Given the description of an element on the screen output the (x, y) to click on. 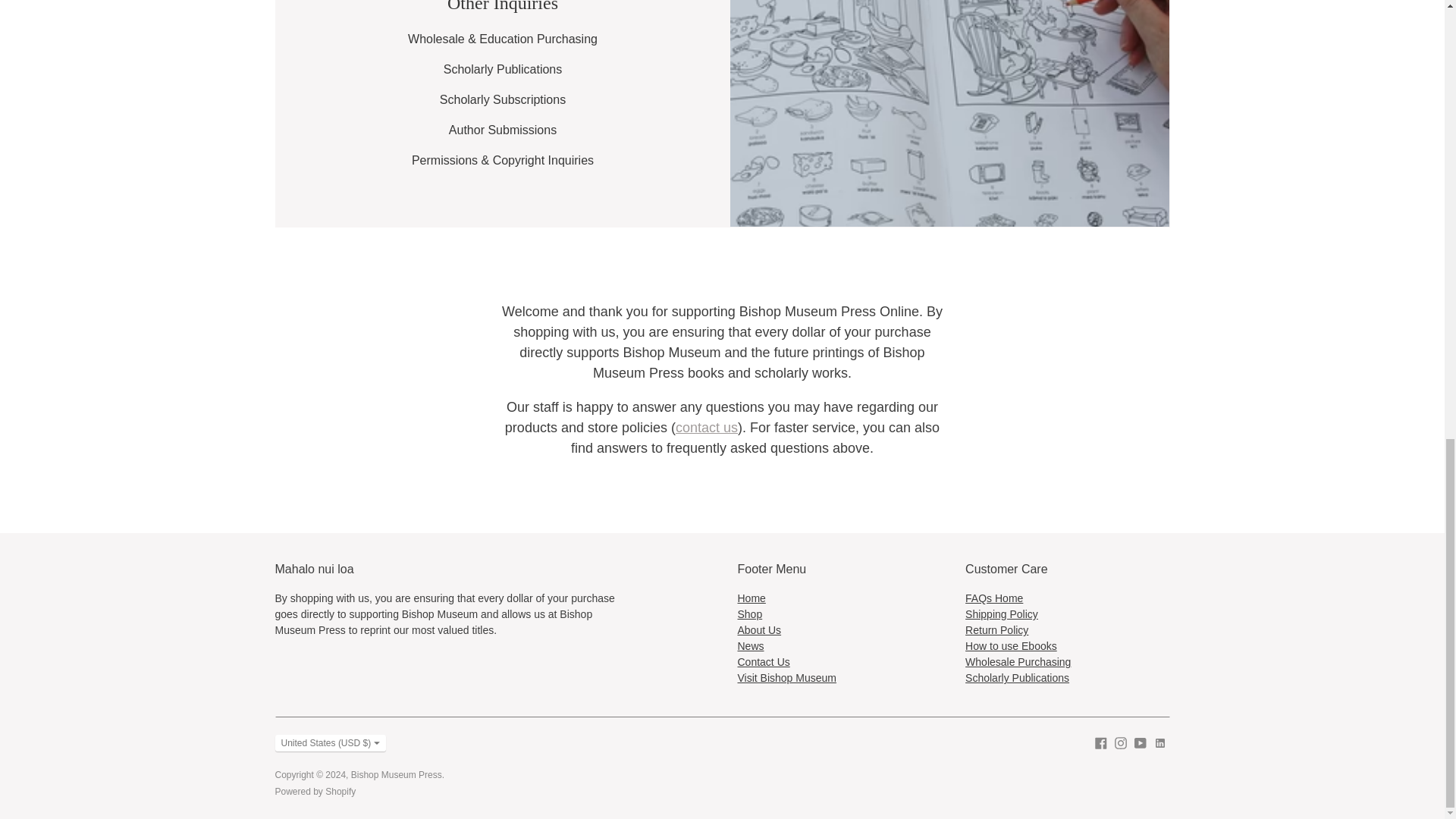
Copyright Permissions of Use (503, 160)
Scholarly Publications (503, 69)
Bishop Museum Press on YouTube (1140, 741)
Bishop Museum Press on Instagram (1120, 741)
Subscriptions (502, 99)
Submission Guidelines (502, 129)
Contact Us (706, 427)
Bishop Museum Press on LinkedIn, (1160, 741)
Bishop Museum Press on Facebook (1100, 741)
Wholesale Purchasing (472, 38)
